Given the description of an element on the screen output the (x, y) to click on. 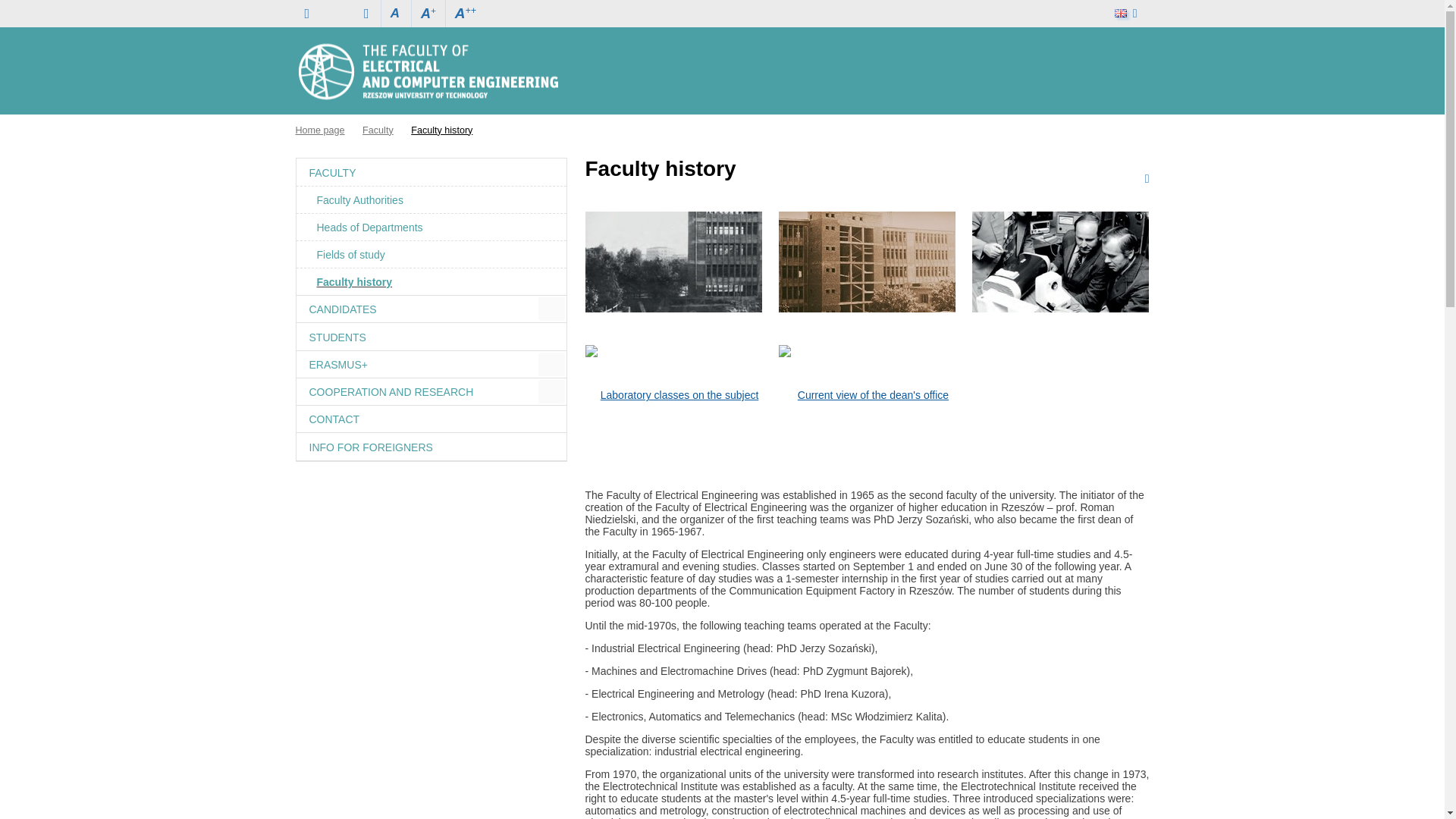
Bigger (464, 13)
Current view of the dean's office building  (866, 394)
Faculty Authorities (430, 199)
Faculty history (440, 130)
Fields of study (430, 254)
Big (427, 13)
FACULTY (430, 171)
CANDIDATES (416, 309)
Home page (320, 130)
Faculty history (430, 281)
Faculty history (440, 130)
Home page (427, 70)
Normal (395, 13)
Construction of the current main Faculty building  (866, 261)
Faculty (377, 130)
